Given the description of an element on the screen output the (x, y) to click on. 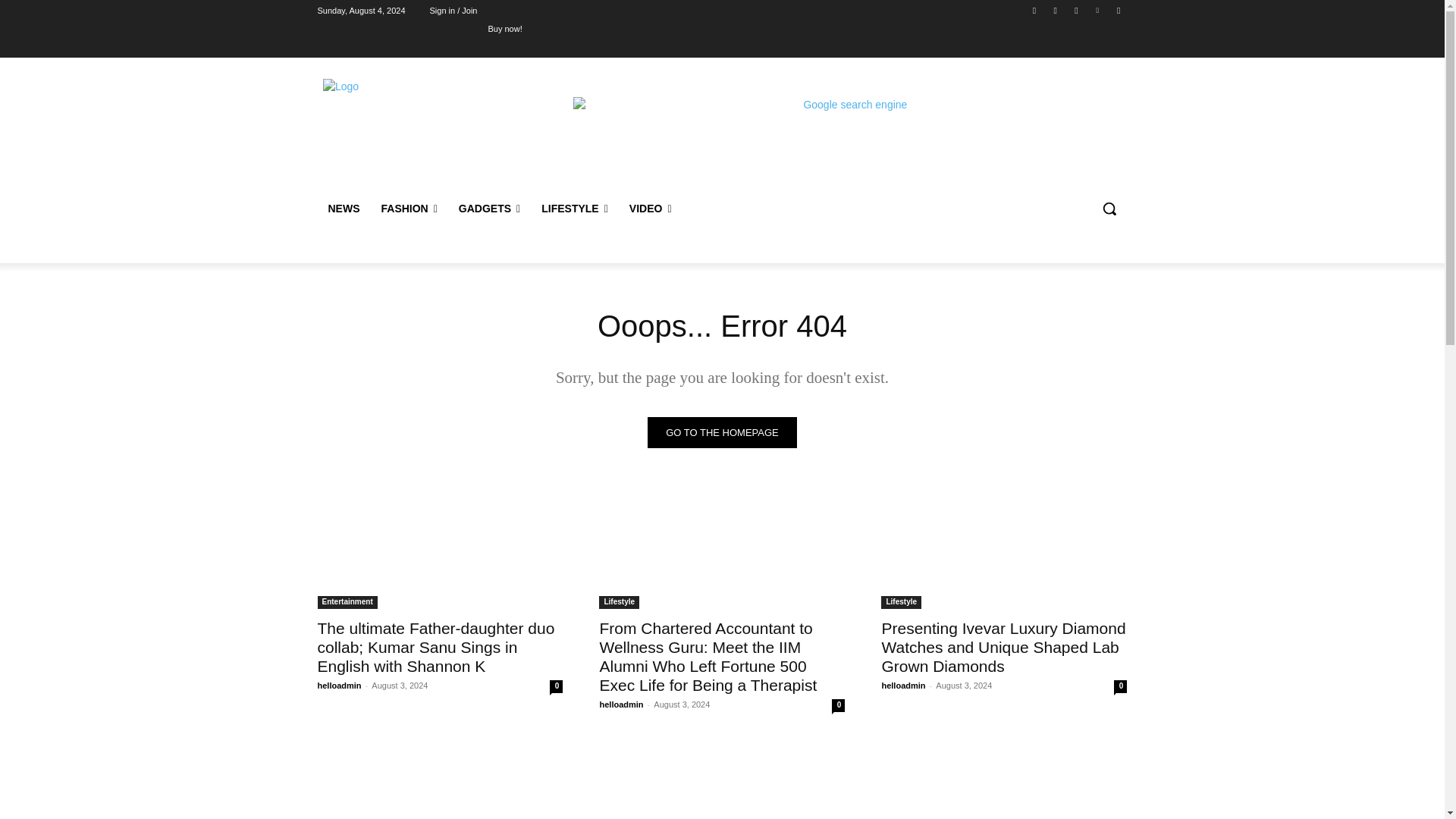
Facebook (1034, 9)
Twitter (1075, 9)
Buy now! (504, 28)
Instagram (1055, 9)
FASHION (407, 208)
Vimeo (1097, 9)
Youtube (1117, 9)
NEWS (343, 208)
